Given the description of an element on the screen output the (x, y) to click on. 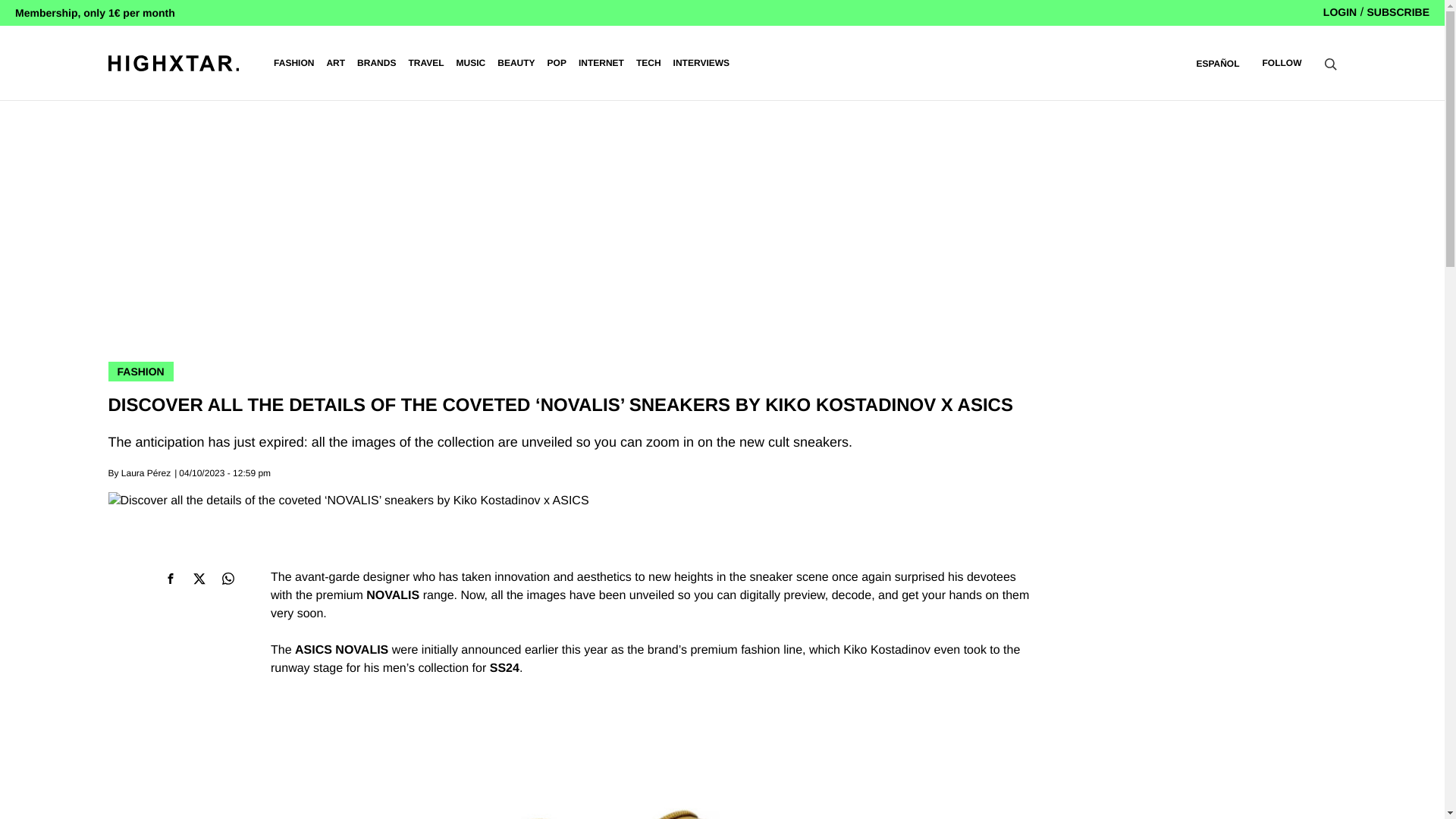
SUBSCRIBE (1398, 11)
INTERVIEWS (700, 62)
INTERNET (601, 62)
Highxtar (172, 62)
FOLLOW (1281, 62)
Follow (1281, 62)
FASHION (293, 62)
LOGIN (1339, 11)
